Given the description of an element on the screen output the (x, y) to click on. 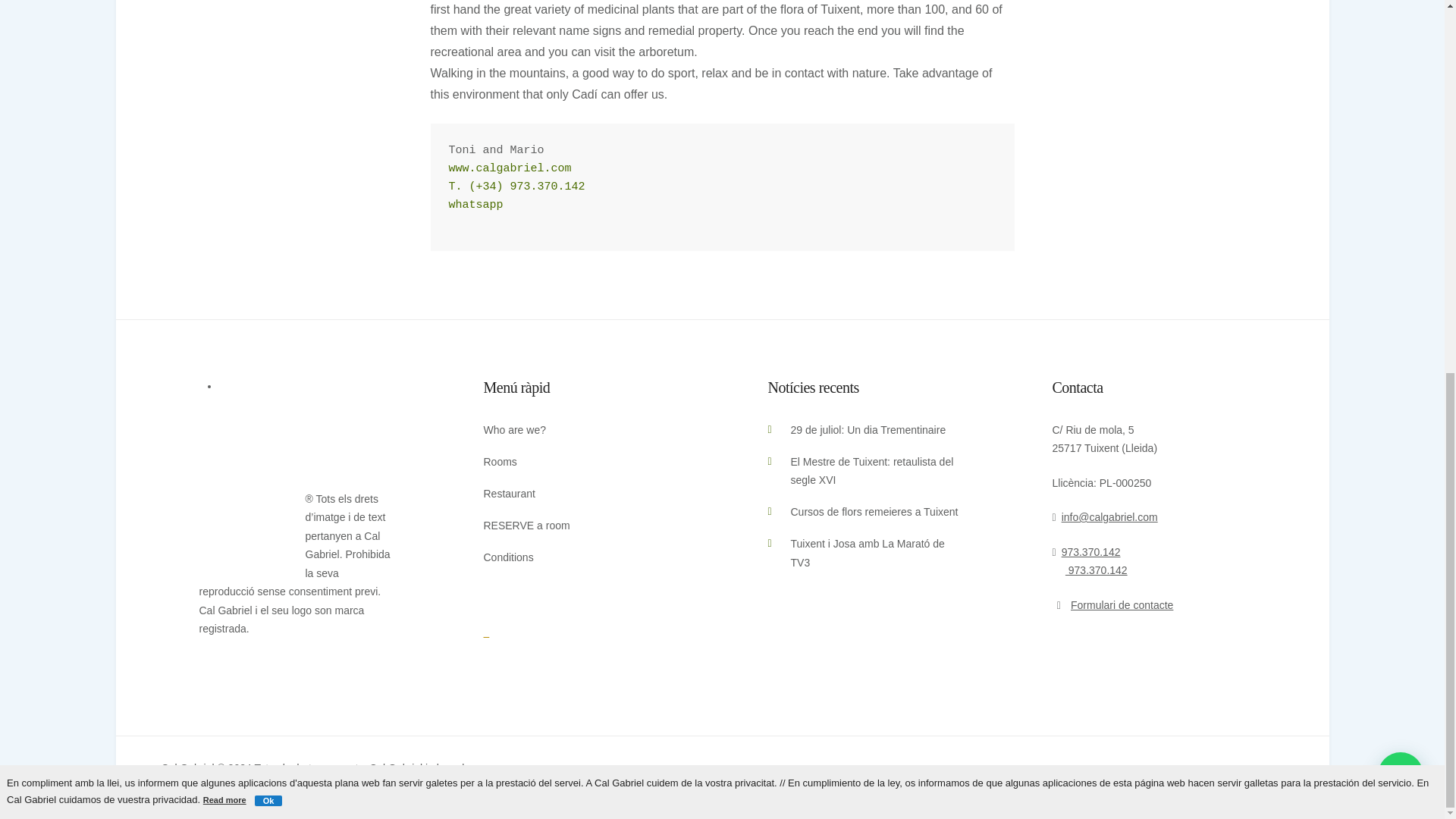
Rooms (499, 461)
whatsapp (475, 205)
www.calgabriel.com (510, 168)
Cal Gabriel (580, 660)
Who are we? (514, 429)
